Given the description of an element on the screen output the (x, y) to click on. 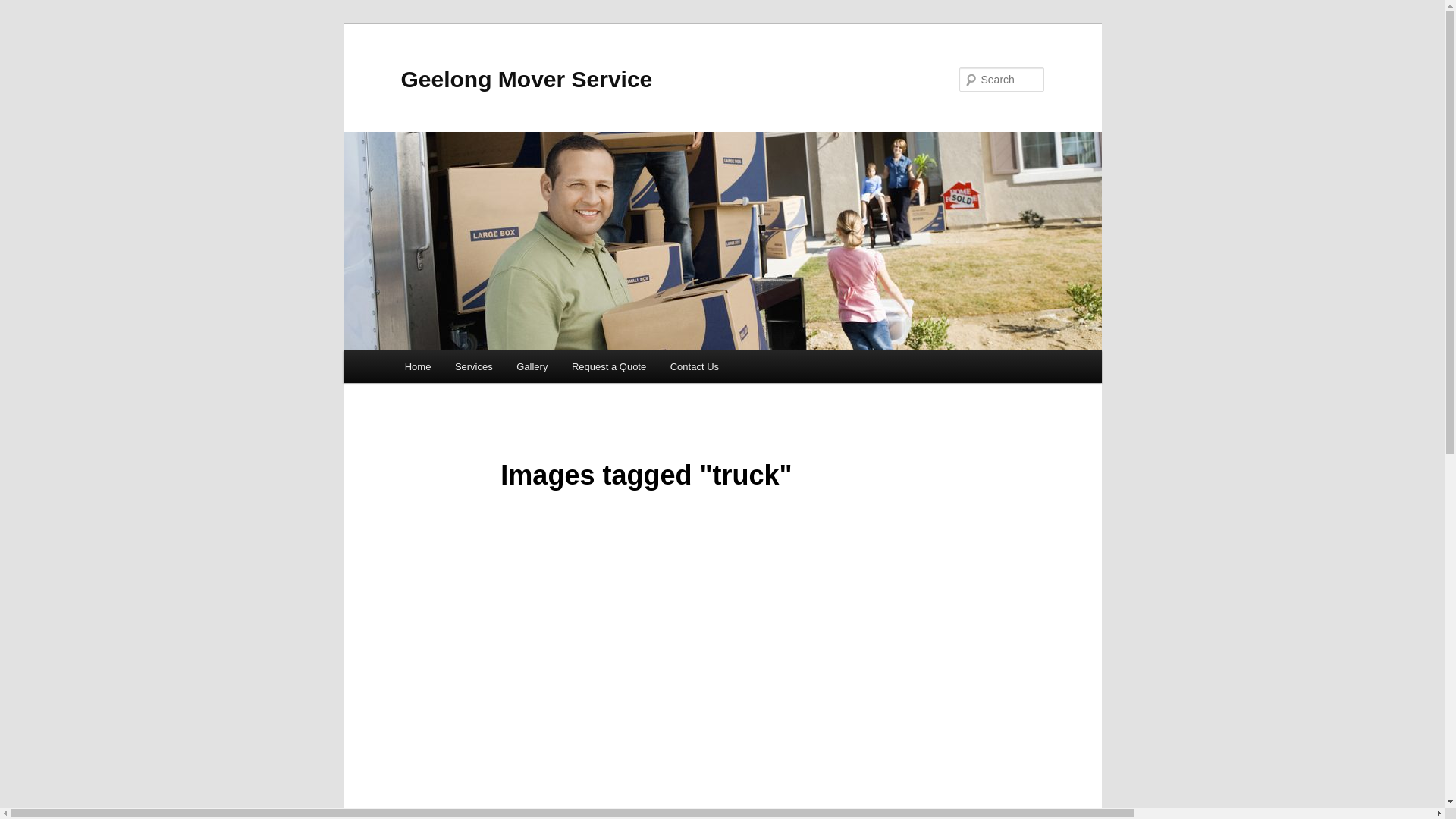
Search Element type: text (24, 8)
Request a Quote Element type: text (608, 366)
Gallery Element type: text (531, 366)
Services Element type: text (473, 366)
Home Element type: text (417, 366)
Geelong Mover Service Element type: text (526, 78)
Skip to primary content Element type: text (22, 22)
Contact Us Element type: text (694, 366)
